Given the description of an element on the screen output the (x, y) to click on. 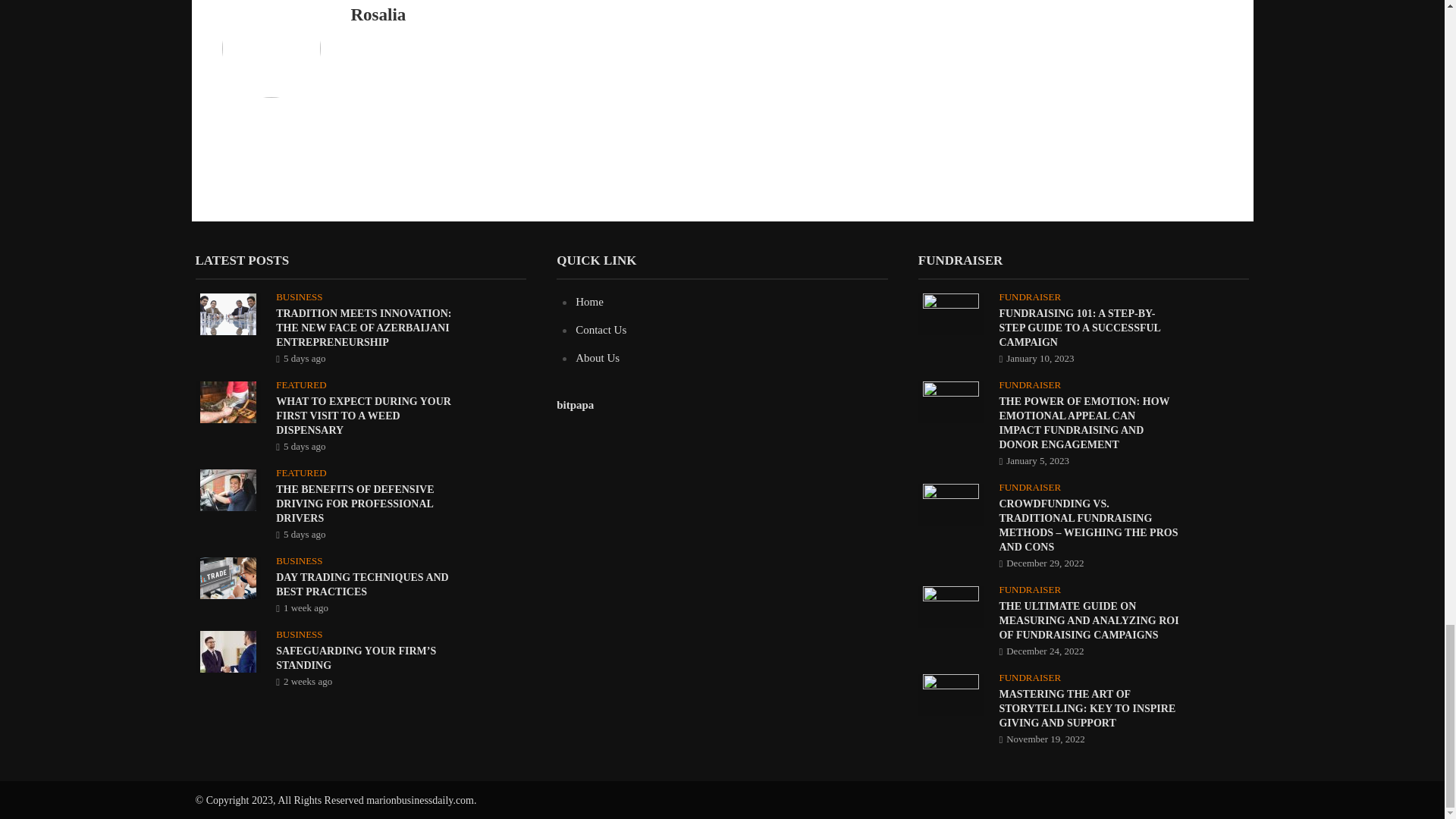
The Benefits of Defensive Driving for Professional Drivers (228, 489)
What to Expect During Your First Visit to a Weed Dispensary (228, 400)
Day Trading Techniques and Best Practices (228, 576)
